Given the description of an element on the screen output the (x, y) to click on. 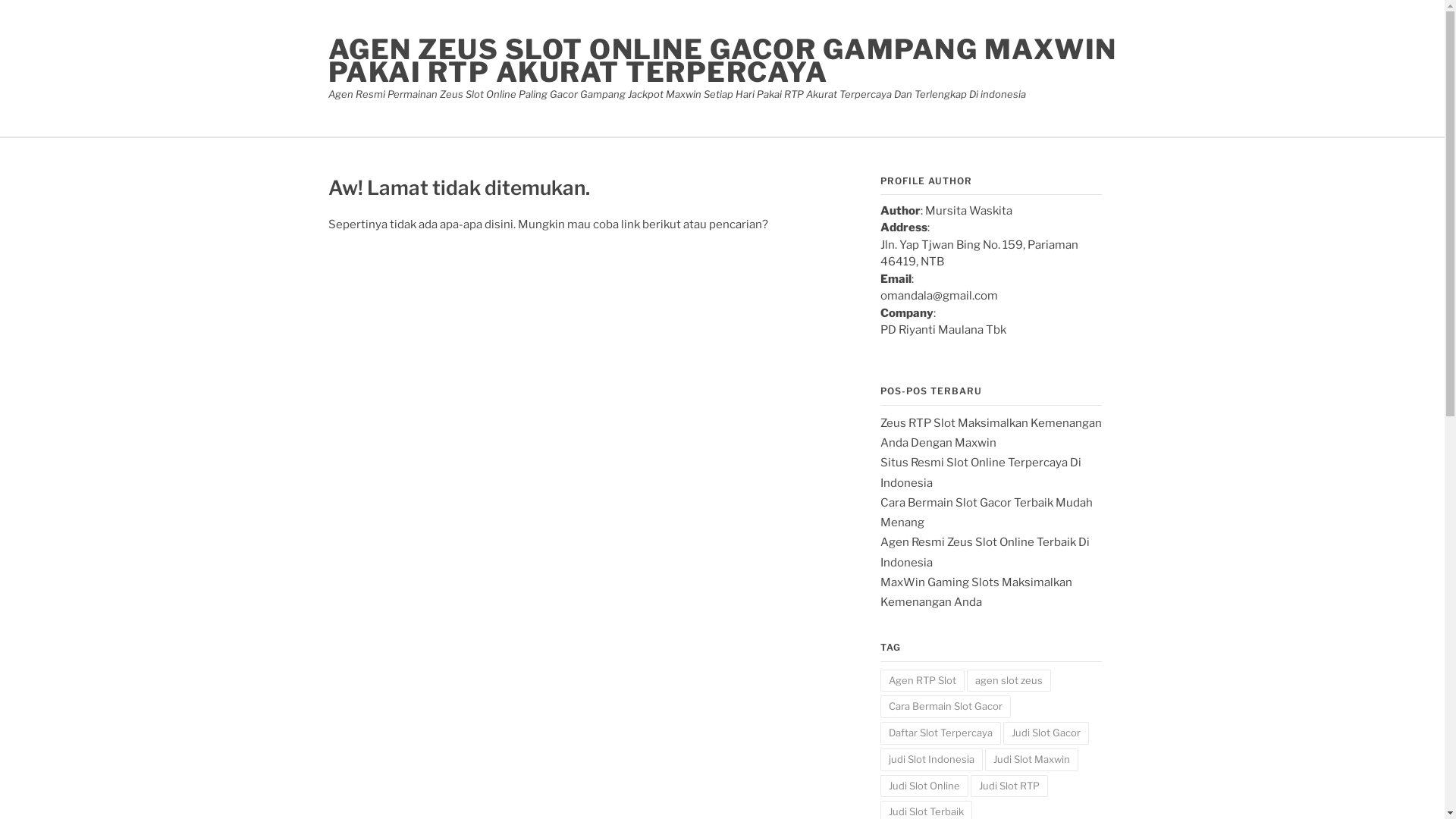
judi Slot Indonesia Element type: text (930, 759)
MaxWin Gaming Slots Maksimalkan Kemenangan Anda Element type: text (975, 591)
agen slot zeus Element type: text (1008, 680)
Daftar Slot Terpercaya Element type: text (939, 732)
Cara Bermain Slot Gacor Terbaik Mudah Menang Element type: text (985, 512)
Judi Slot RTP Element type: text (1009, 786)
Cara Bermain Slot Gacor Element type: text (944, 706)
Situs Resmi Slot Online Terpercaya Di Indonesia Element type: text (979, 472)
Agen Resmi Zeus Slot Online Terbaik Di Indonesia Element type: text (983, 551)
Agen RTP Slot Element type: text (921, 680)
Judi Slot Gacor Element type: text (1045, 732)
Zeus RTP Slot Maksimalkan Kemenangan Anda Dengan Maxwin Element type: text (990, 432)
Judi Slot Maxwin Element type: text (1030, 759)
Judi Slot Online Element type: text (923, 786)
